Given the description of an element on the screen output the (x, y) to click on. 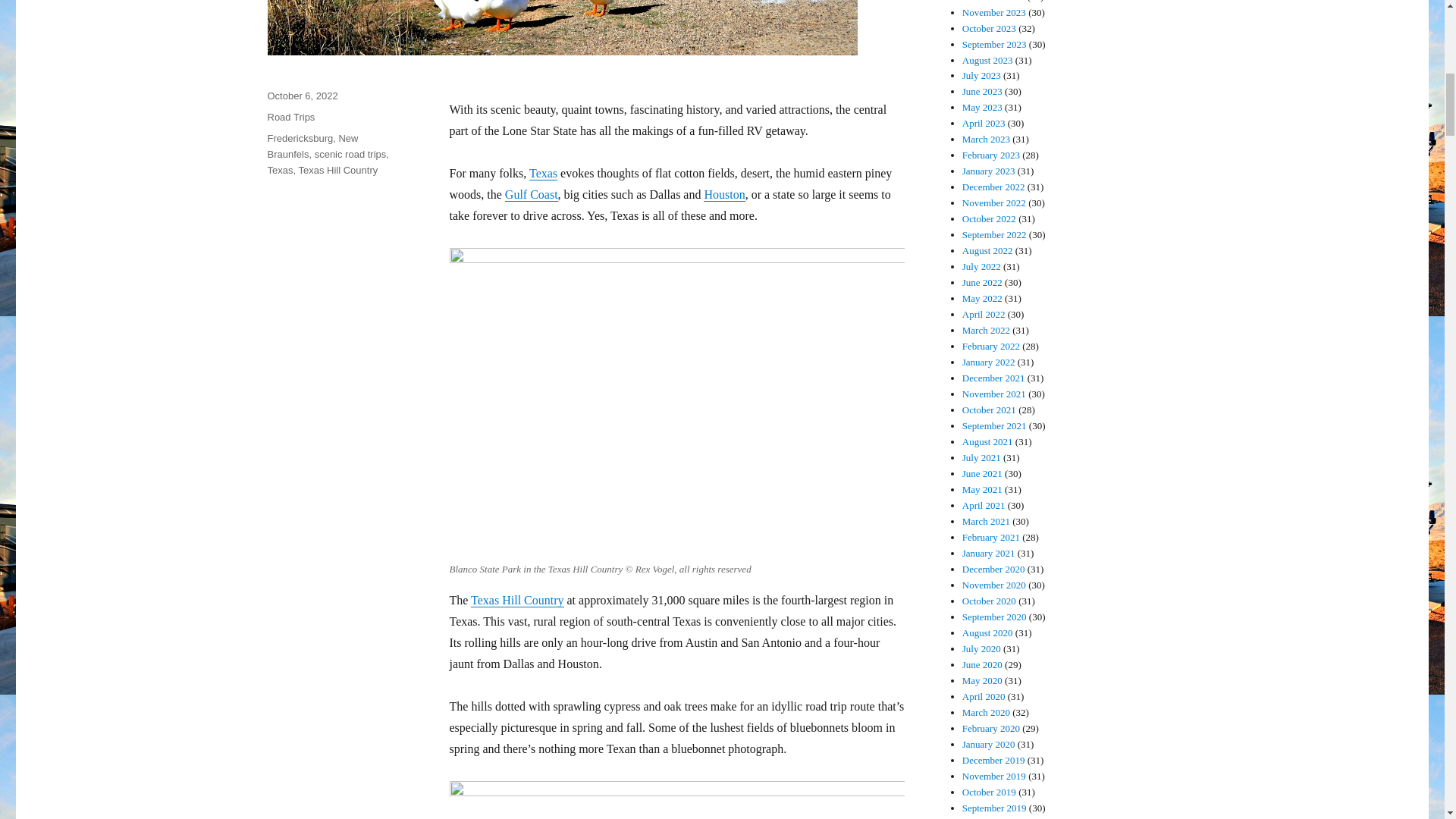
scenic road trips (350, 153)
Gulf Coast (531, 194)
Texas (543, 173)
Texas (279, 170)
Houston (723, 194)
Texas Hill Country (337, 170)
Road Trips (290, 116)
October 6, 2022 (301, 95)
Texas Hill Country (516, 599)
Fredericksburg (299, 138)
